Given the description of an element on the screen output the (x, y) to click on. 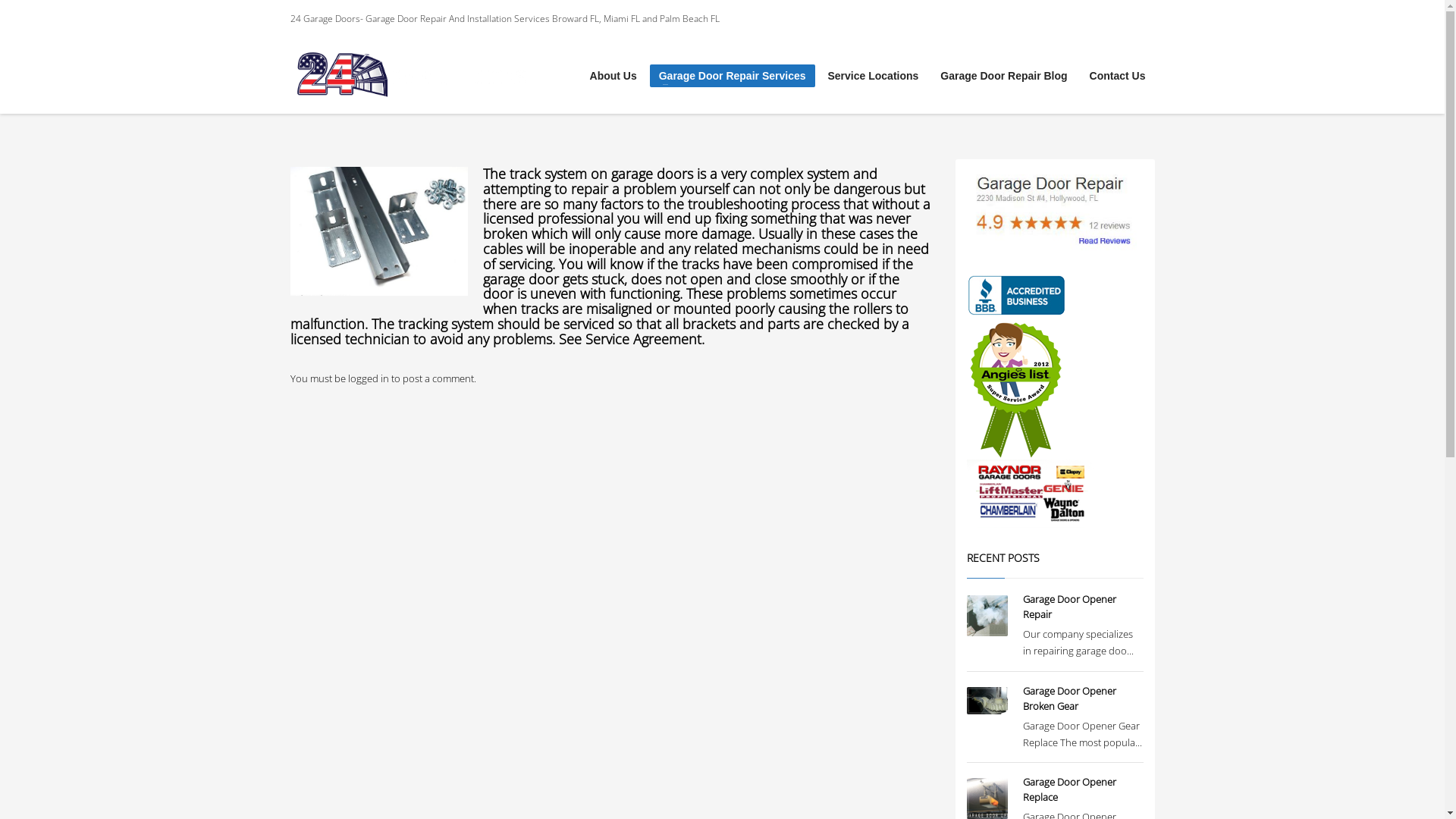
logged in Element type: text (368, 378)
Garage Door Opener Broken Gear Element type: text (1069, 698)
Garage Door Repair Broward County  Miami Dade Palm Beach Element type: hover (410, 75)
Garage Door Repair Services Element type: text (732, 75)
Garage Door Repair Blog Element type: text (1003, 75)
Garage Door Opener Repair Element type: text (1069, 606)
Contact Us Element type: text (1117, 75)
Service Locations Element type: text (873, 75)
Garage Door Opener Replace Element type: text (1069, 789)
About Us Element type: text (613, 75)
